Given the description of an element on the screen output the (x, y) to click on. 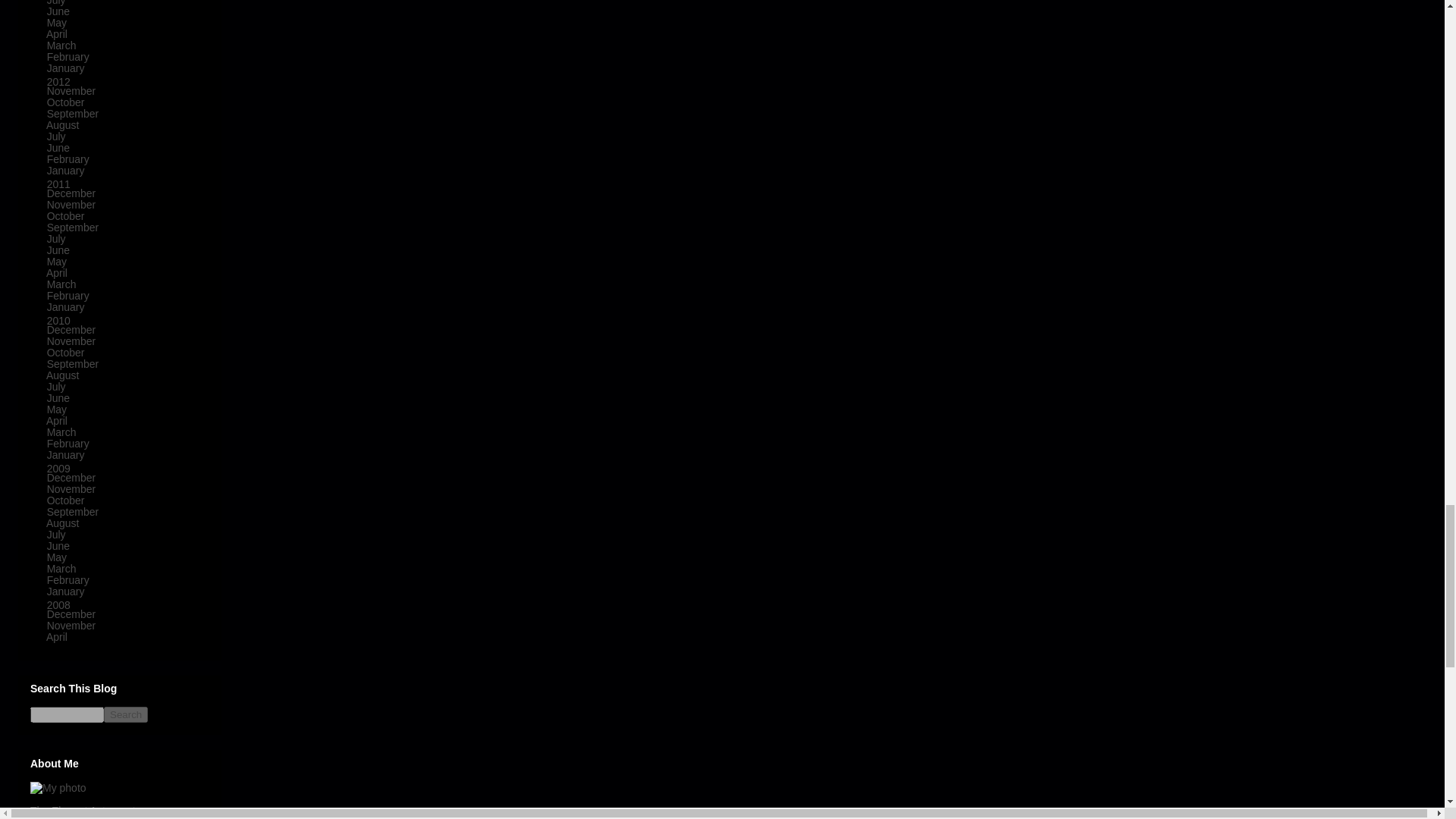
Search (125, 714)
Search (125, 714)
search (125, 714)
search (66, 714)
